Given the description of an element on the screen output the (x, y) to click on. 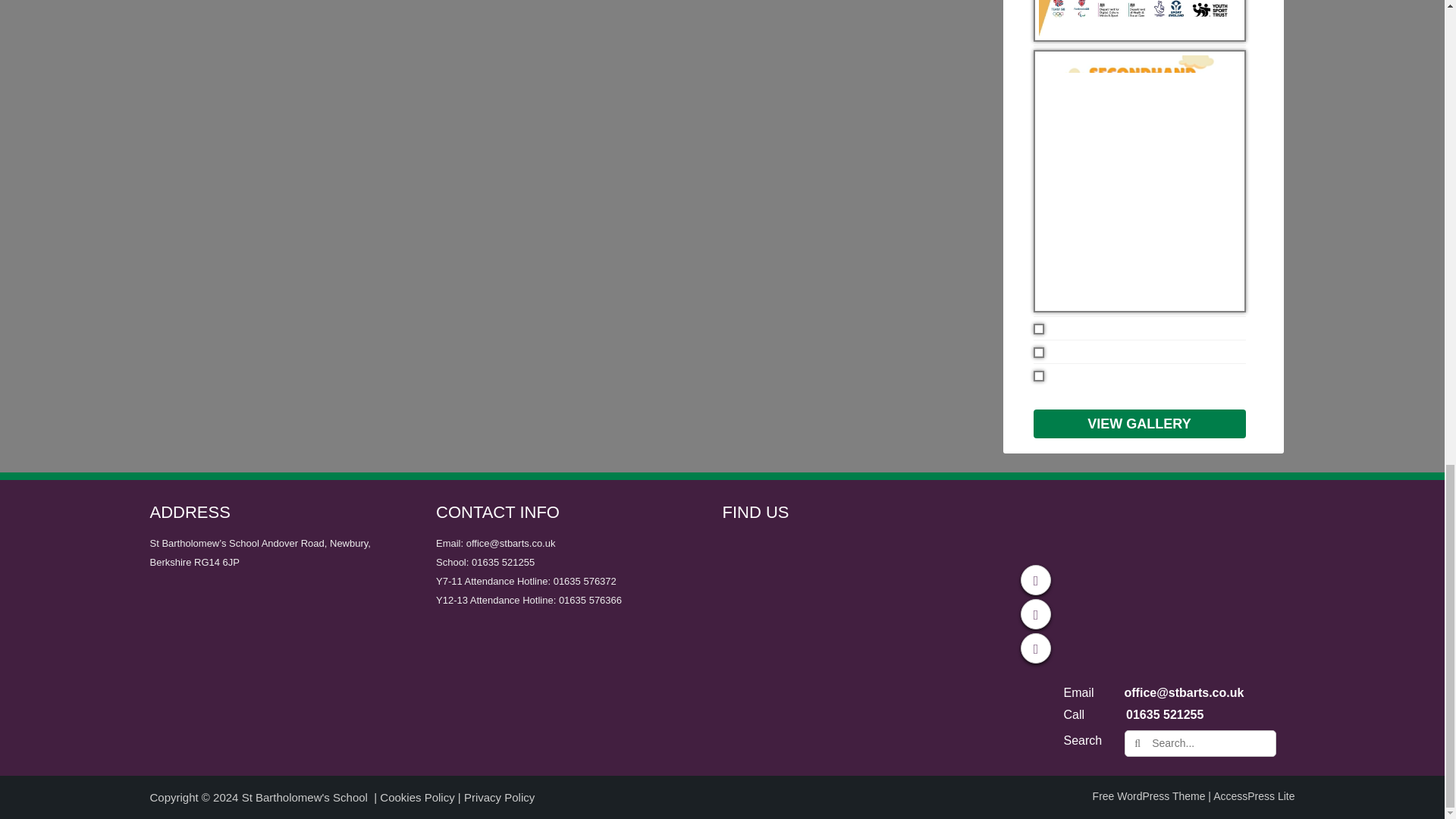
Instagram (1035, 648)
Facebook (1035, 580)
Twitter (1035, 613)
AccessPress Themes (1253, 796)
